Given the description of an element on the screen output the (x, y) to click on. 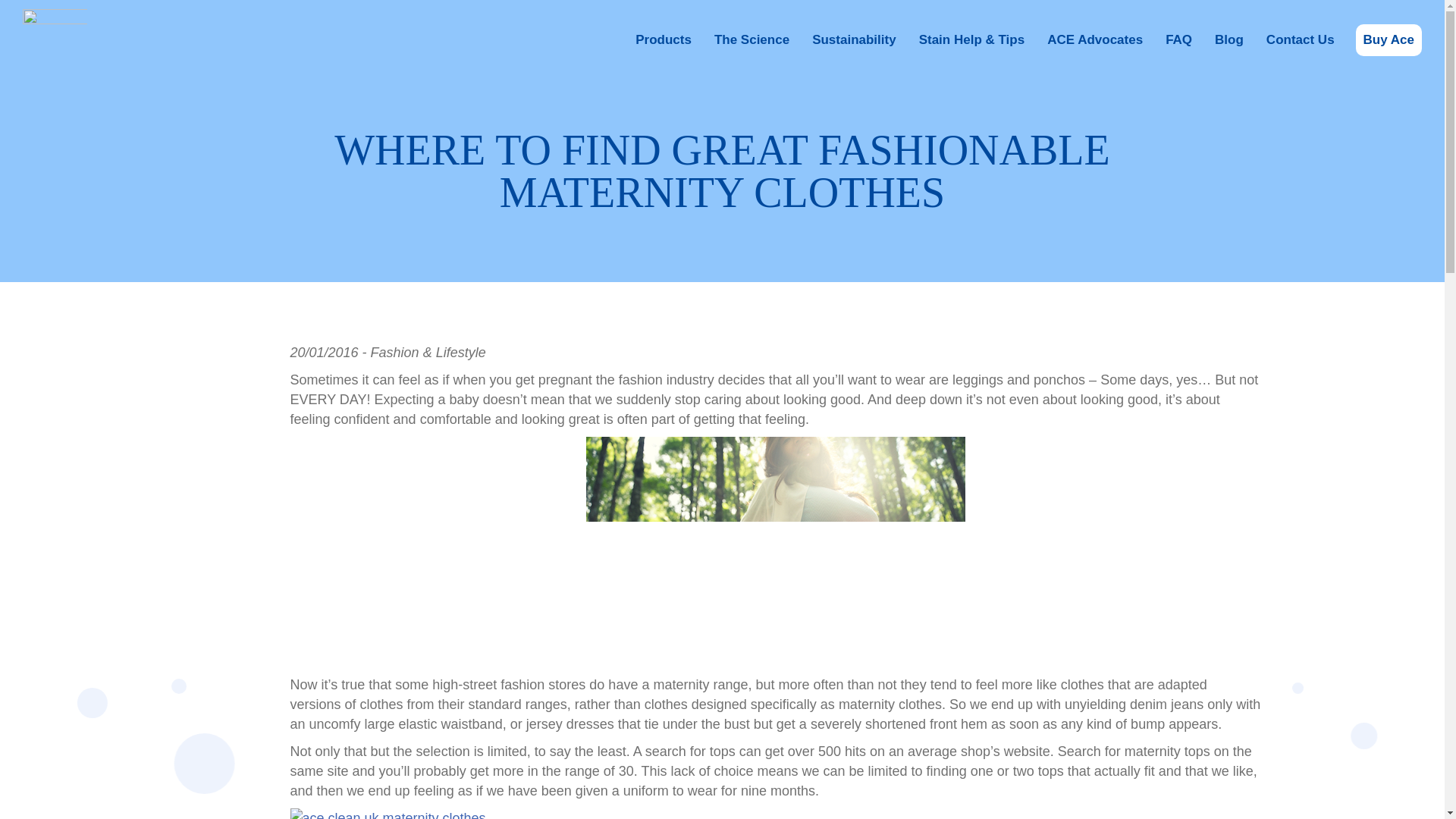
Contact Us (1300, 40)
Products (662, 40)
Buy Ace (1388, 40)
Sustainability (854, 40)
The Science (751, 40)
ACE Advocates (1094, 40)
FAQ (1178, 40)
Blog (1228, 40)
